Given the description of an element on the screen output the (x, y) to click on. 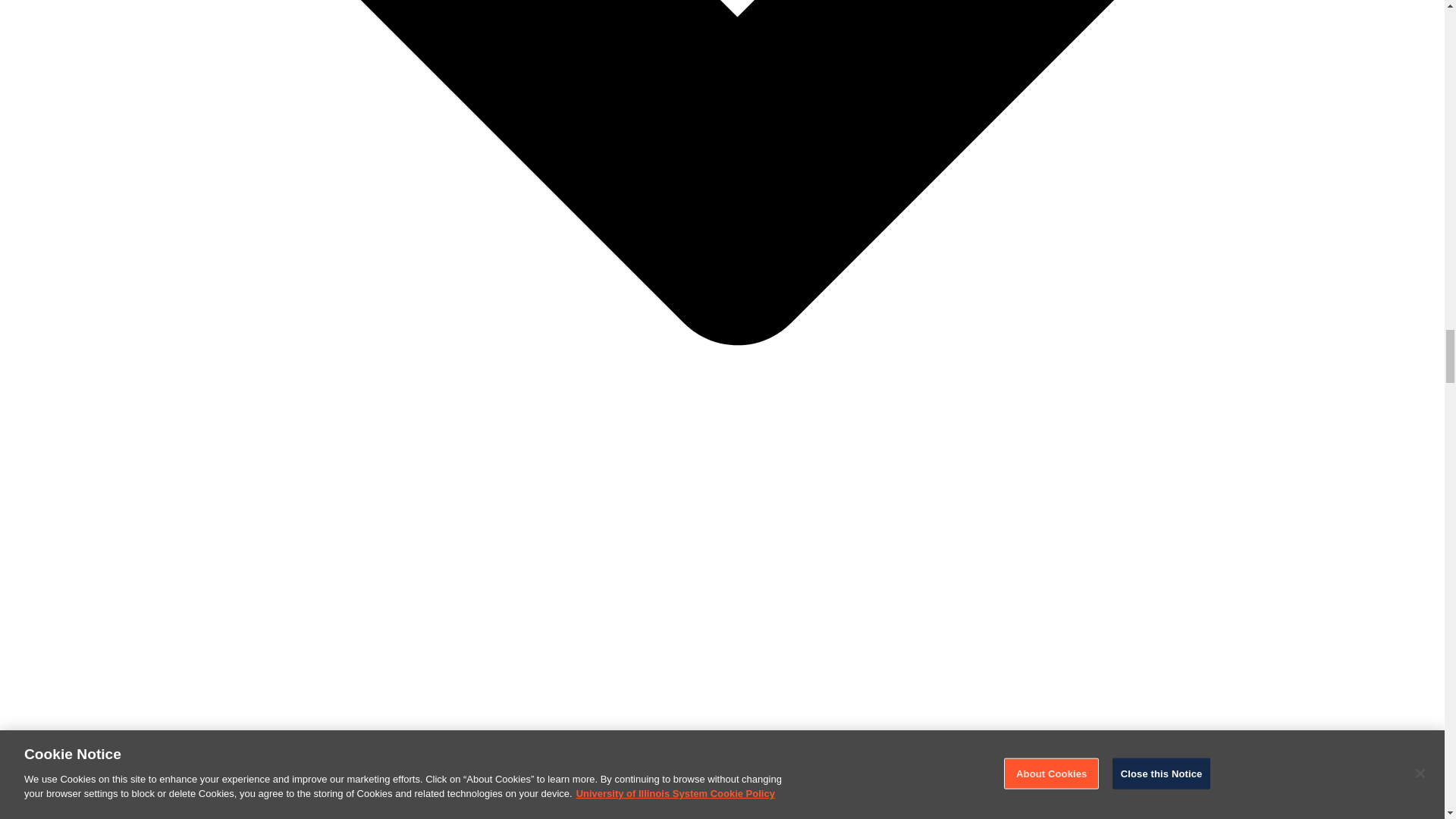
Subcommittees (125, 791)
Peer Advocates (125, 814)
